Given the description of an element on the screen output the (x, y) to click on. 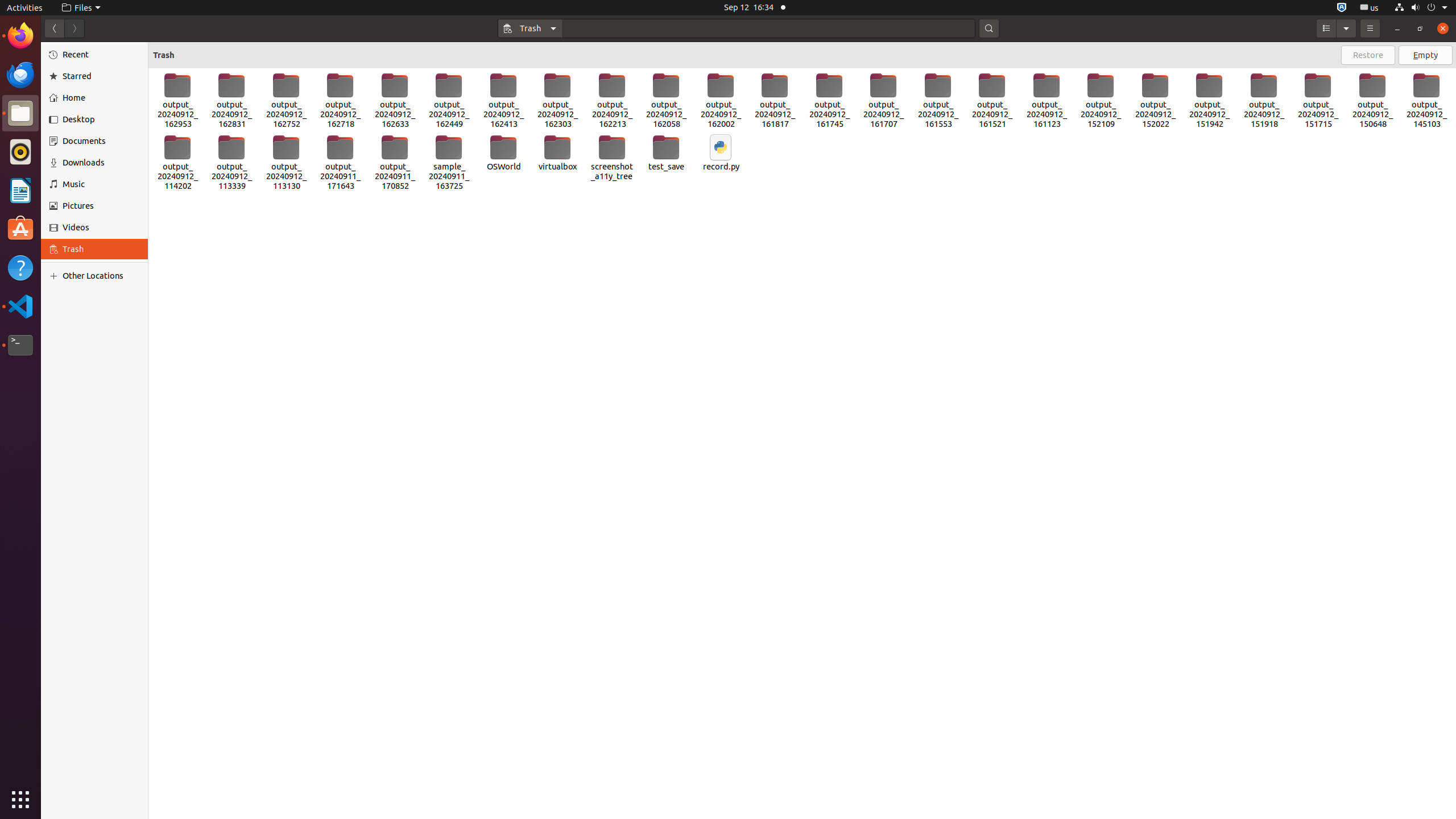
Documents Element type: label (100, 140)
record.py Element type: canvas (720, 152)
output_20240912_162449 Element type: canvas (449, 100)
Add Element type: icon (55, 275)
output_20240912_161817 Element type: canvas (774, 100)
